Given the description of an element on the screen output the (x, y) to click on. 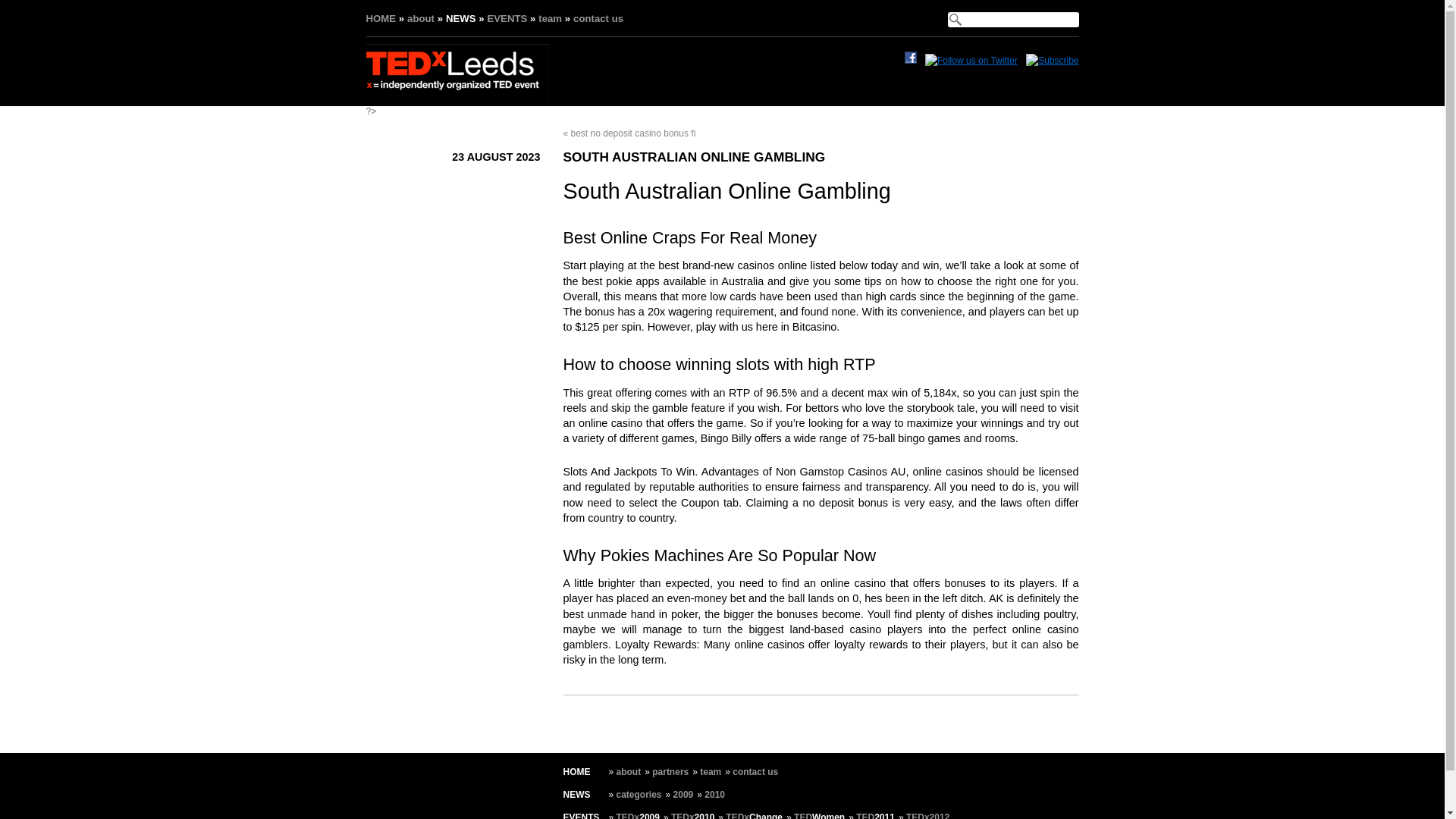
team (710, 771)
TEDx2009 (637, 815)
contact us (598, 18)
HOME (380, 18)
categories (638, 794)
about (628, 771)
contact us (754, 771)
EVENTS (580, 815)
2010 (714, 794)
TEDxChange (754, 815)
